Given the description of an element on the screen output the (x, y) to click on. 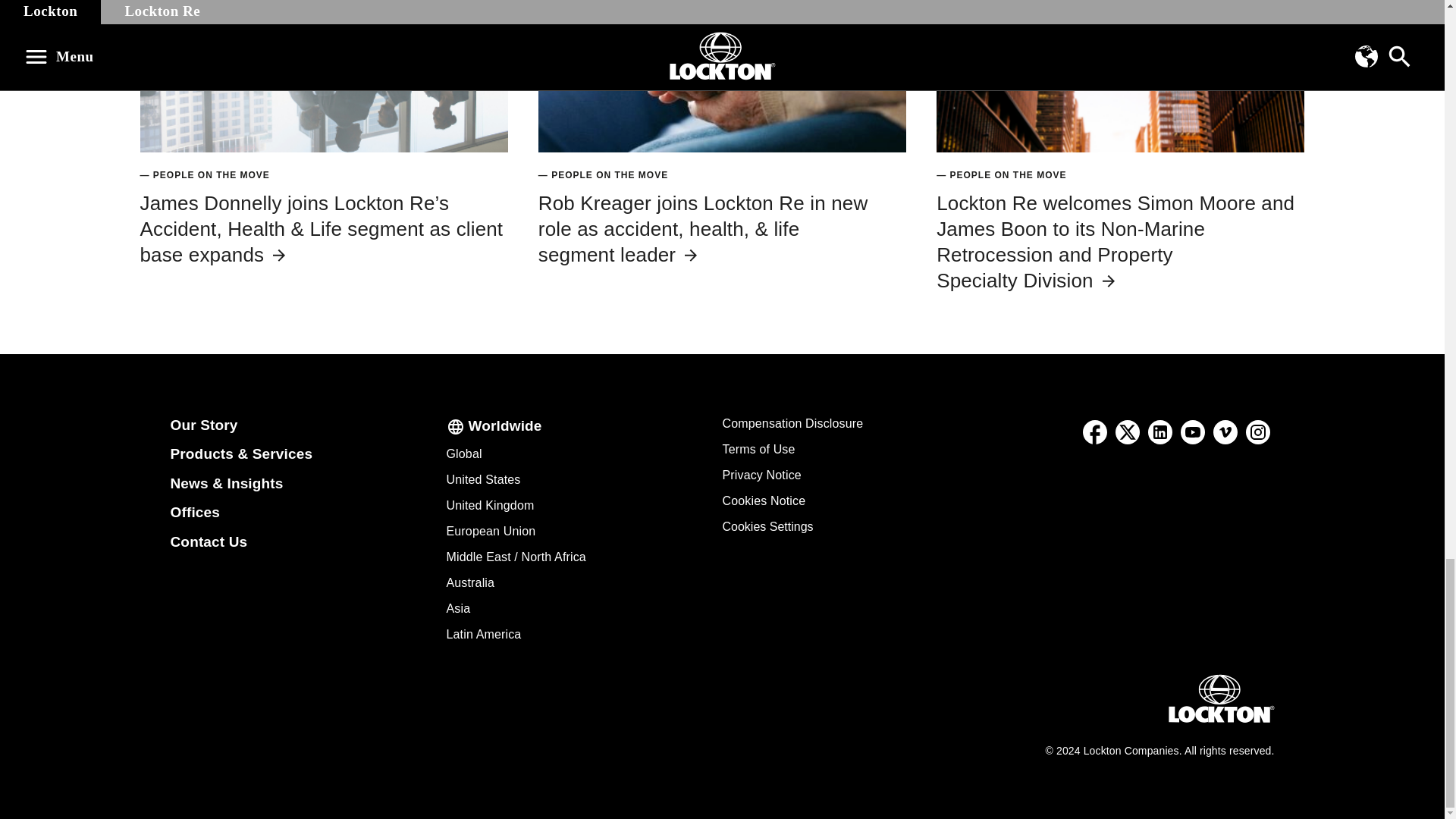
Offices (194, 512)
Contact Us (208, 541)
Compensation Disclosure (792, 422)
United States (482, 479)
Follow Lockton on YouTube (1192, 431)
Cookies Notice (763, 500)
Asia (457, 608)
Terms of Use (758, 449)
Global (463, 453)
Latin America (483, 634)
Follow Lockton on LinkedIn (1159, 431)
Follow Lockton on Instagram (1258, 431)
Follow Lockton on Twitter (1128, 431)
European Union (490, 530)
